Given the description of an element on the screen output the (x, y) to click on. 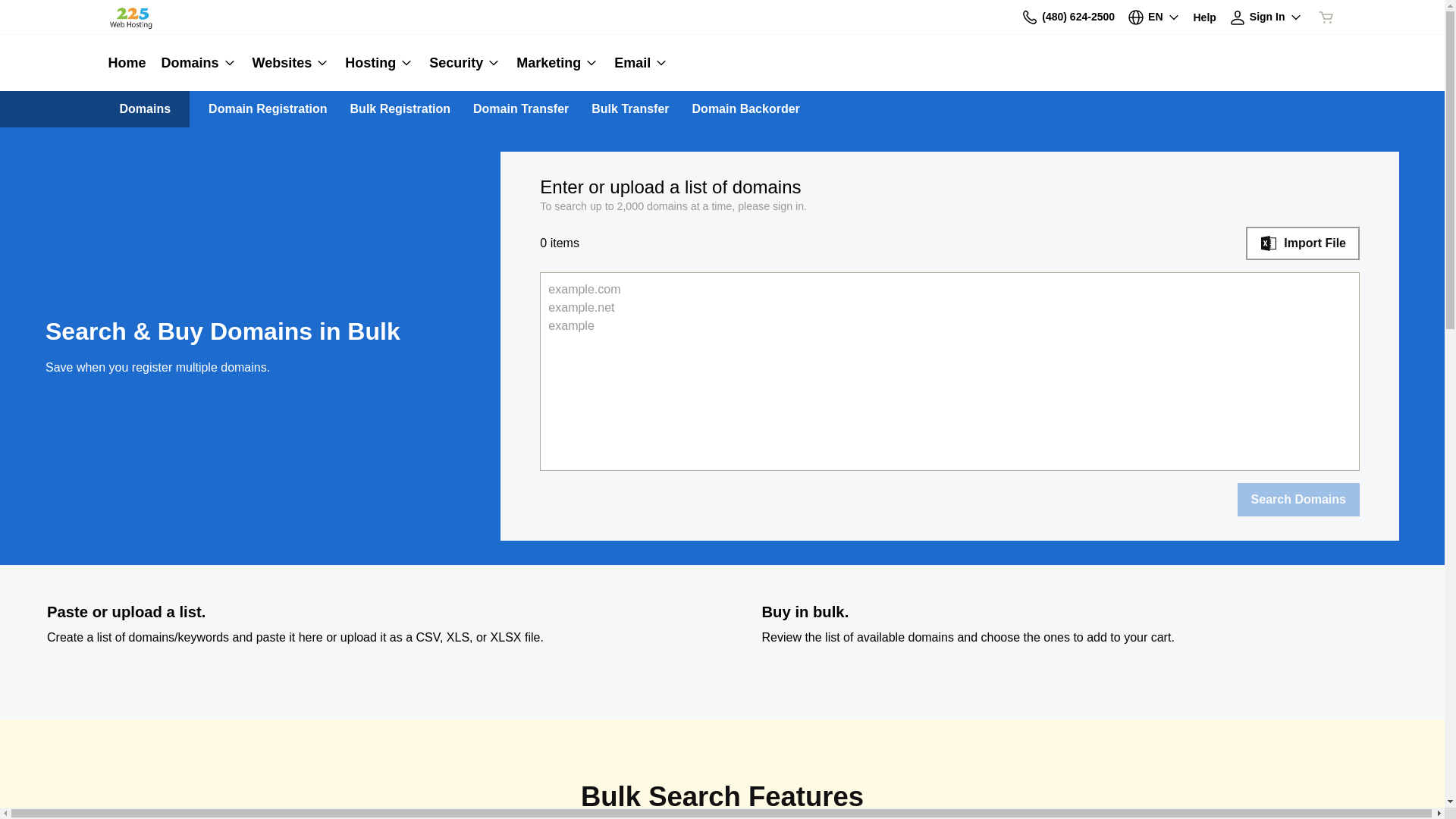
Help Element type: text (1204, 17)
EN Element type: text (1153, 17)
Contact Us Element type: hover (1029, 17)
Sign In Element type: text (1265, 17)
Domain Registration Element type: text (267, 108)
Home Element type: text (130, 62)
Security Element type: text (464, 62)
Websites Element type: text (291, 62)
Domains Element type: text (198, 62)
Import File Element type: text (1302, 243)
Bulk Registration Element type: text (400, 108)
Domain Backorder Element type: text (746, 108)
Bulk Transfer Element type: text (629, 108)
Email Element type: text (637, 62)
Marketing Element type: text (557, 62)
Search Domains Element type: text (1298, 499)
(480) 624-2500 Element type: text (1067, 17)
Domain Transfer Element type: text (520, 108)
Hosting Element type: text (379, 62)
